Given the description of an element on the screen output the (x, y) to click on. 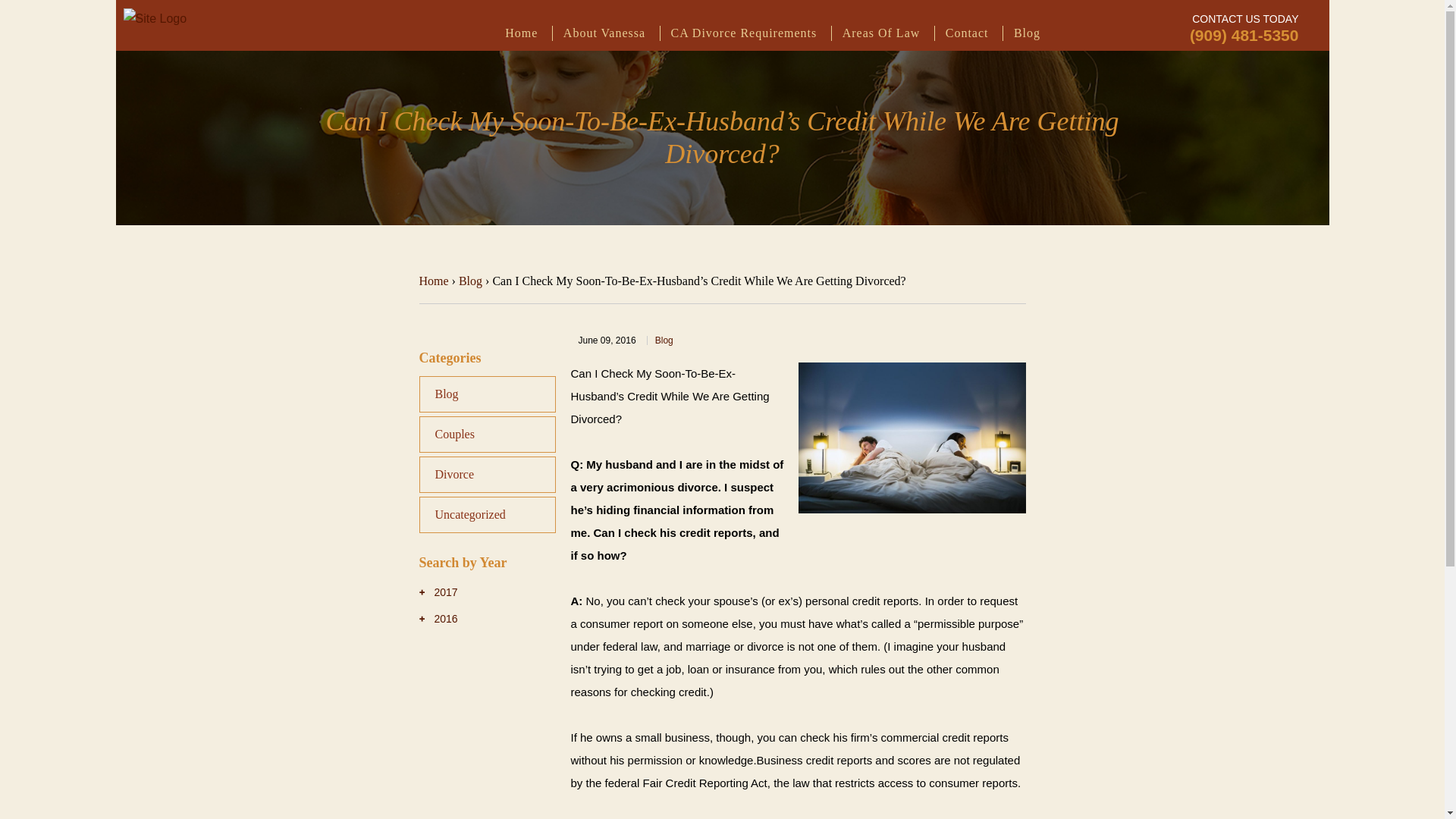
Areas Of Law (881, 32)
Blog (469, 280)
Blog (1027, 32)
CA Divorce Requirements (742, 32)
Blog (486, 393)
Contact (966, 32)
About Vanessa (604, 32)
Home (433, 280)
2017 (438, 592)
Couples (486, 434)
Home (521, 32)
Uncategorized (486, 514)
Divorce (486, 474)
